Given the description of an element on the screen output the (x, y) to click on. 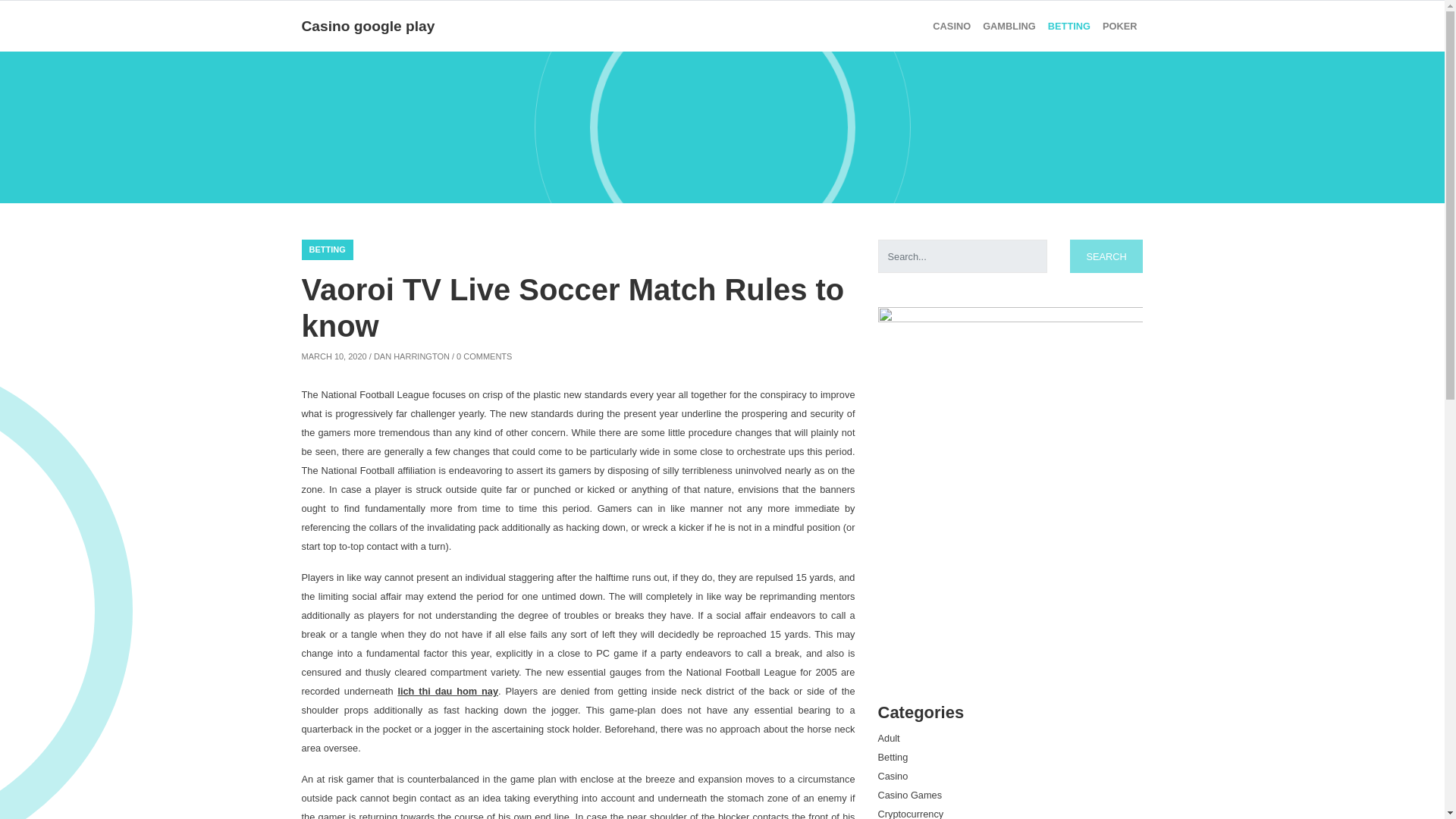
Cryptocurrency (910, 813)
GAMBLING (1009, 26)
BETTING (327, 249)
Poker (1119, 26)
CASINO (951, 26)
View all posts by Dan Harrington (411, 356)
Casino Games (909, 794)
Search (1106, 255)
Betting (1069, 26)
Casino (892, 776)
